Given the description of an element on the screen output the (x, y) to click on. 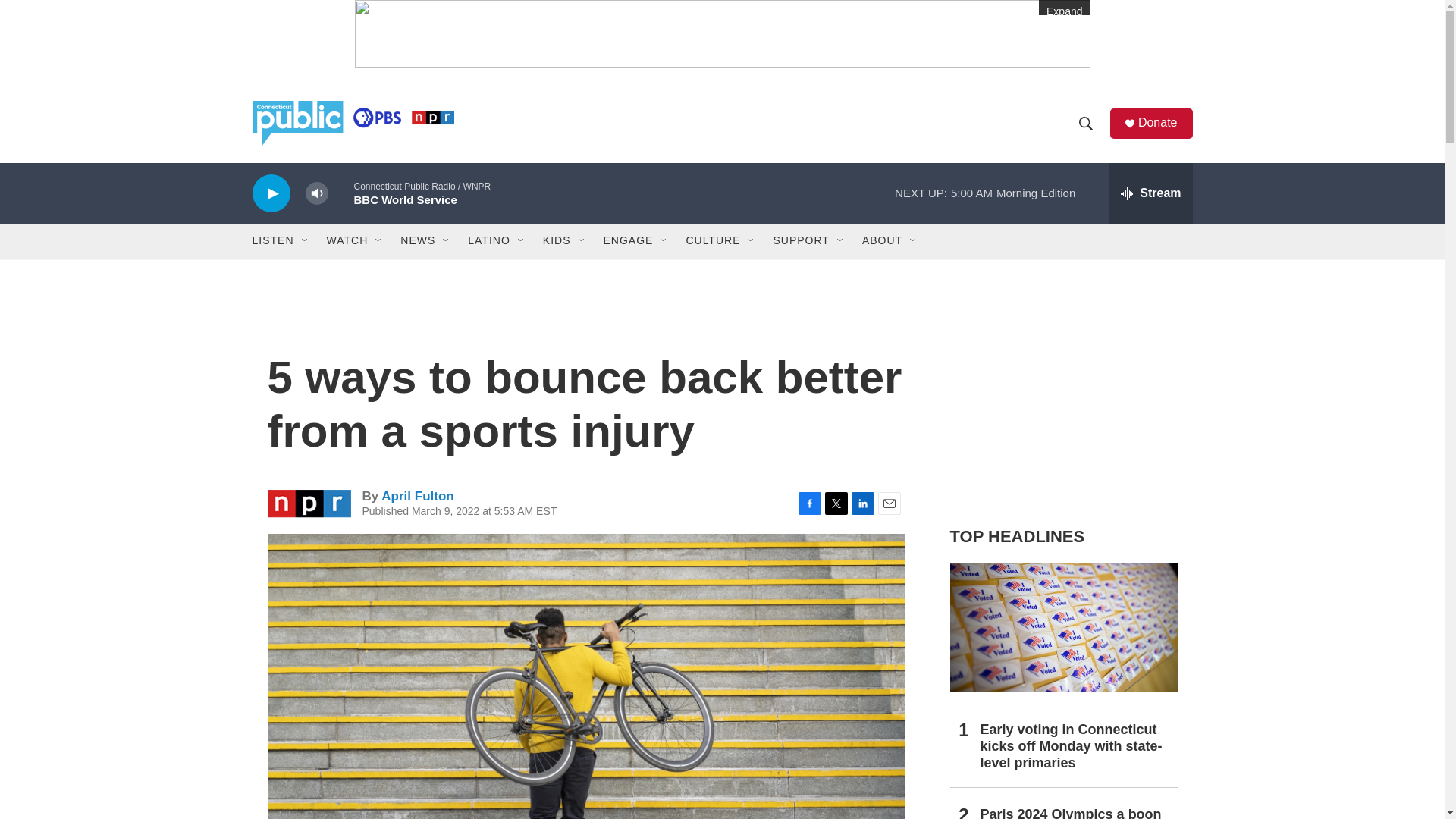
3rd party ad content (1062, 400)
Expand (722, 33)
